Given the description of an element on the screen output the (x, y) to click on. 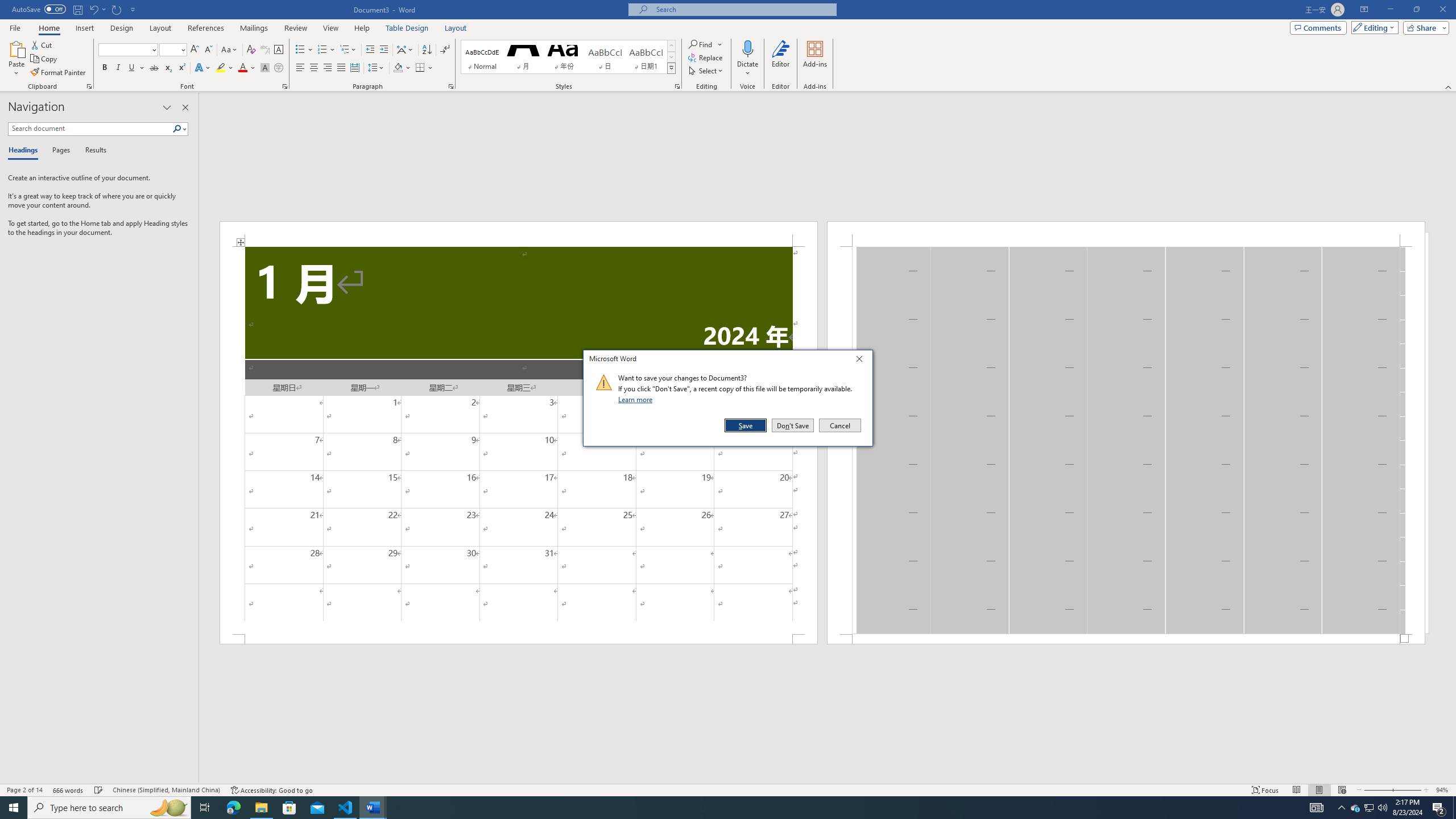
Sort... (1355, 807)
Table Design (426, 49)
